Given the description of an element on the screen output the (x, y) to click on. 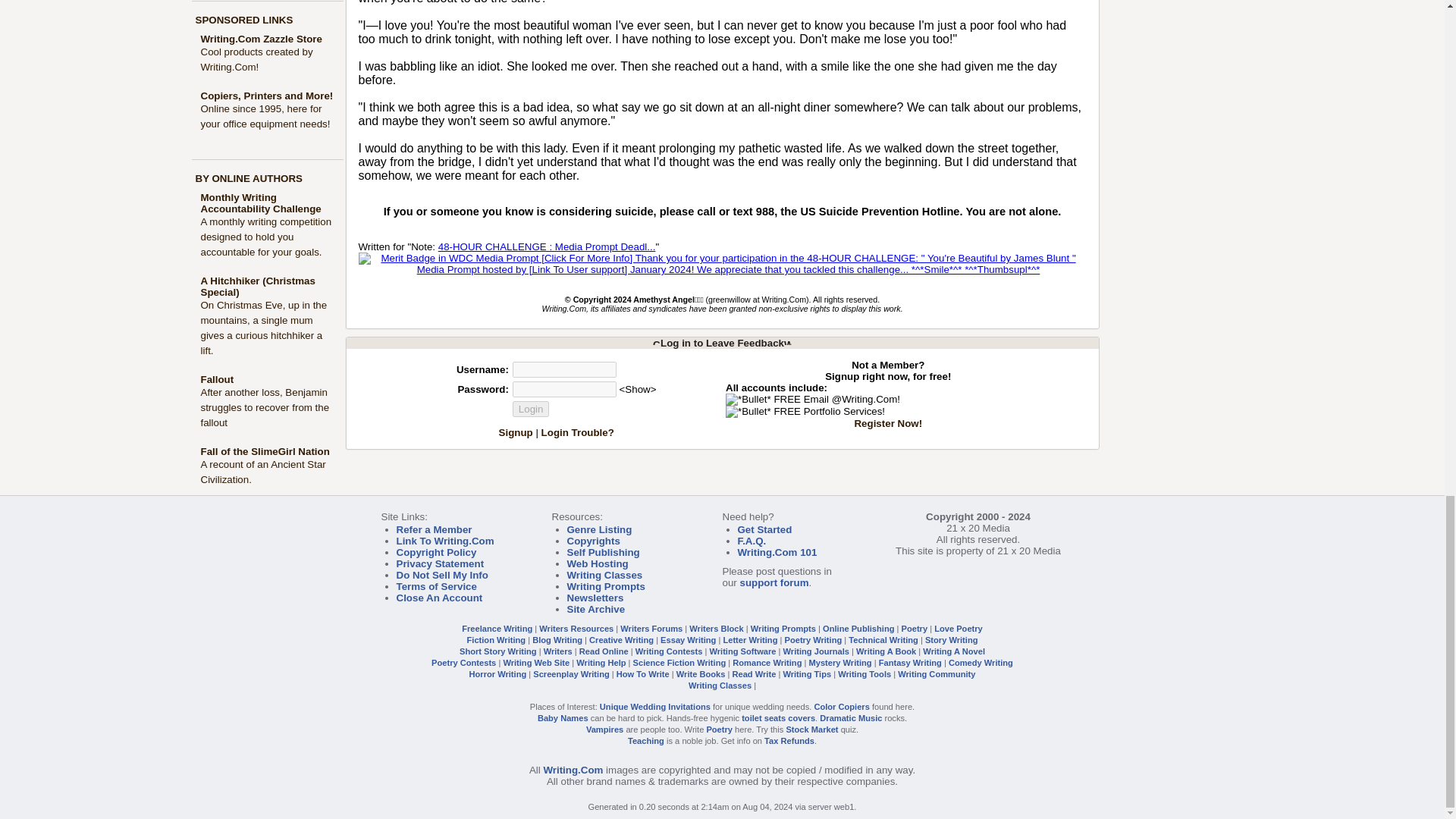
Login (531, 408)
